Given the description of an element on the screen output the (x, y) to click on. 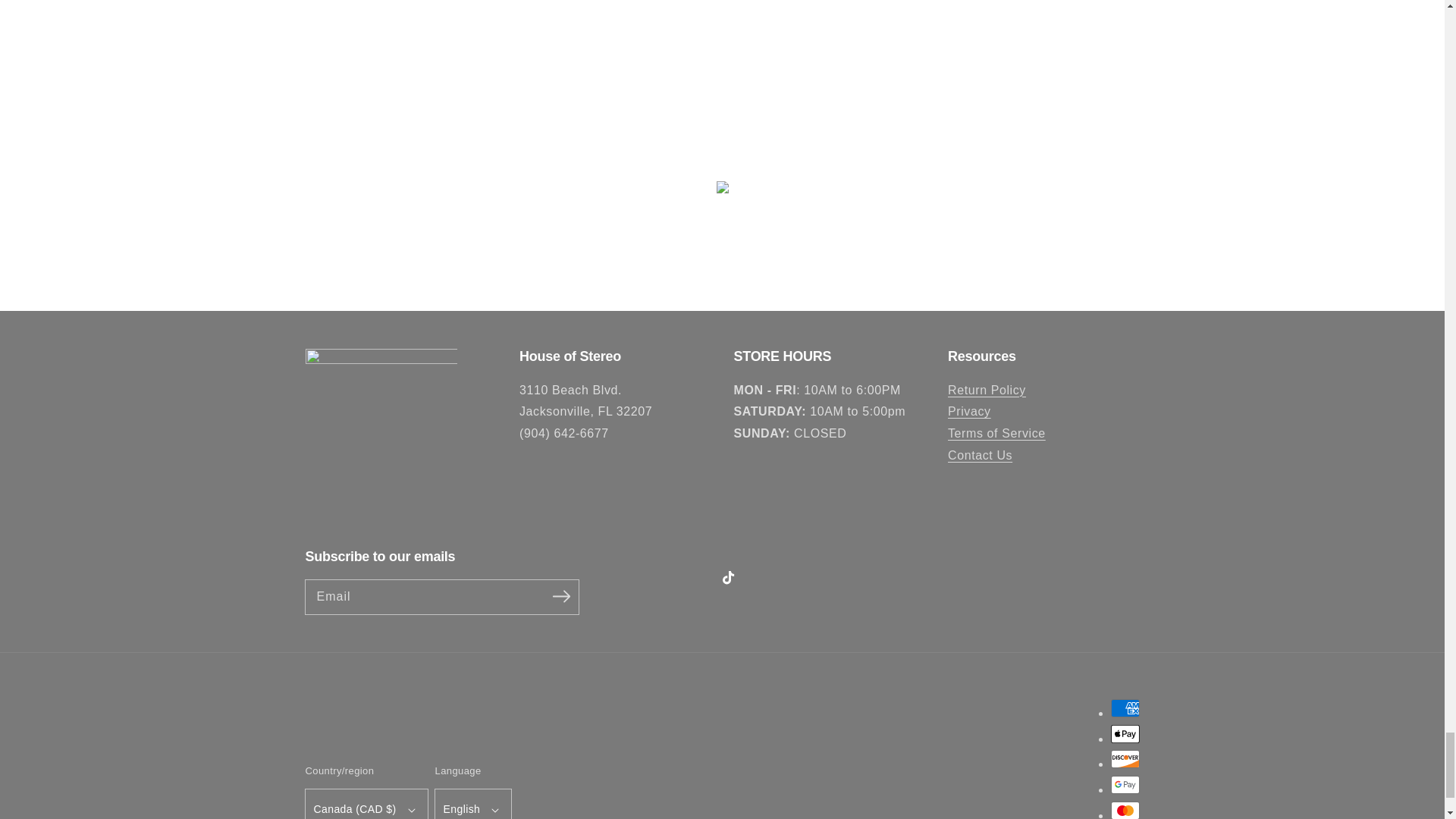
Mastercard (1123, 810)
Refund Policy (986, 390)
Contact Us (979, 454)
Privacy Policy (969, 410)
Google Pay (1123, 784)
Discover (1123, 759)
Terms of Service (996, 432)
Apple Pay (1123, 733)
American Express (1123, 708)
